Given the description of an element on the screen output the (x, y) to click on. 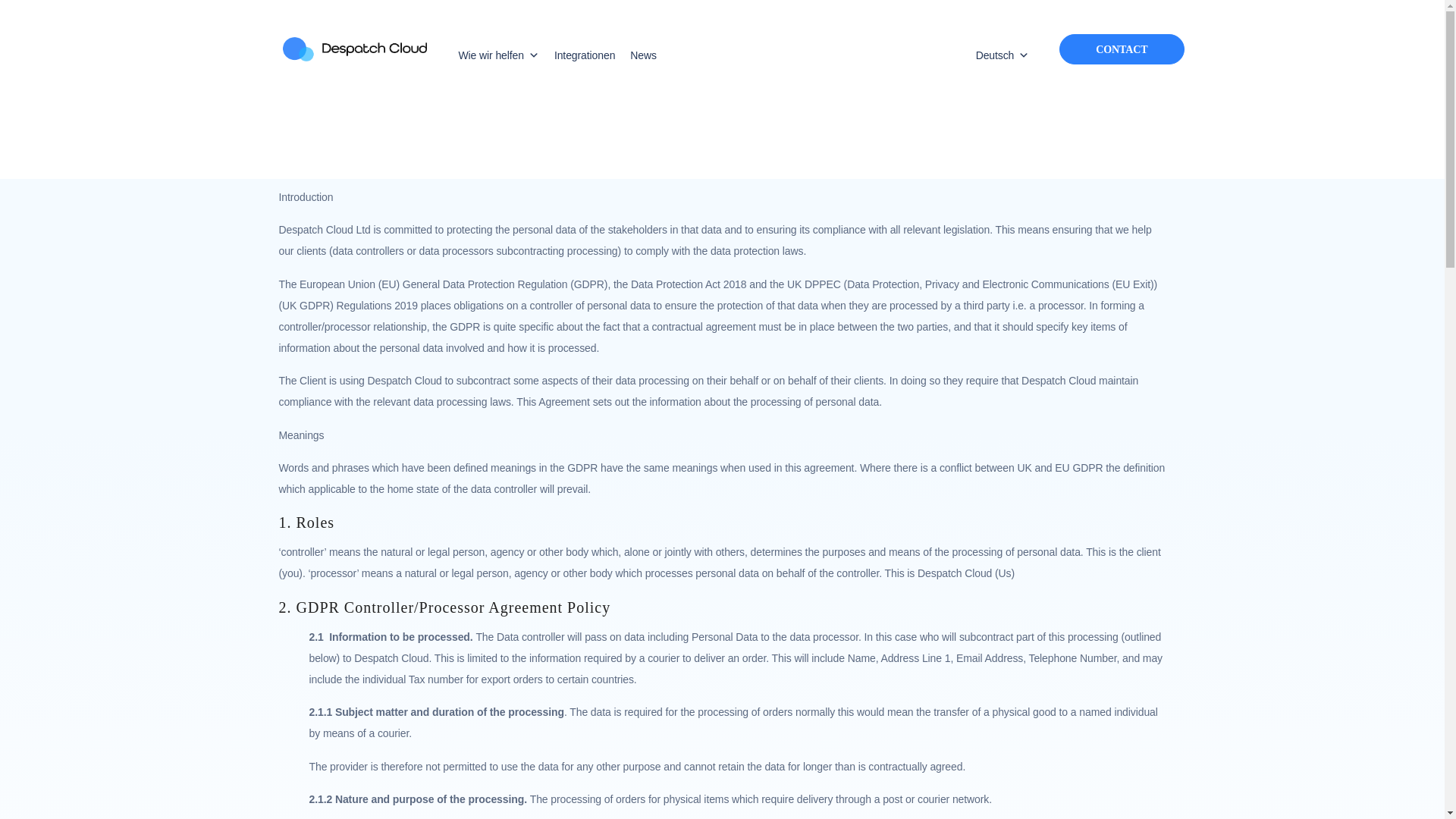
Integrationen (585, 55)
Wie wir helfen (497, 55)
Deutsch (999, 55)
CONTACT (1121, 49)
News (643, 55)
Deutsch (999, 55)
